Given the description of an element on the screen output the (x, y) to click on. 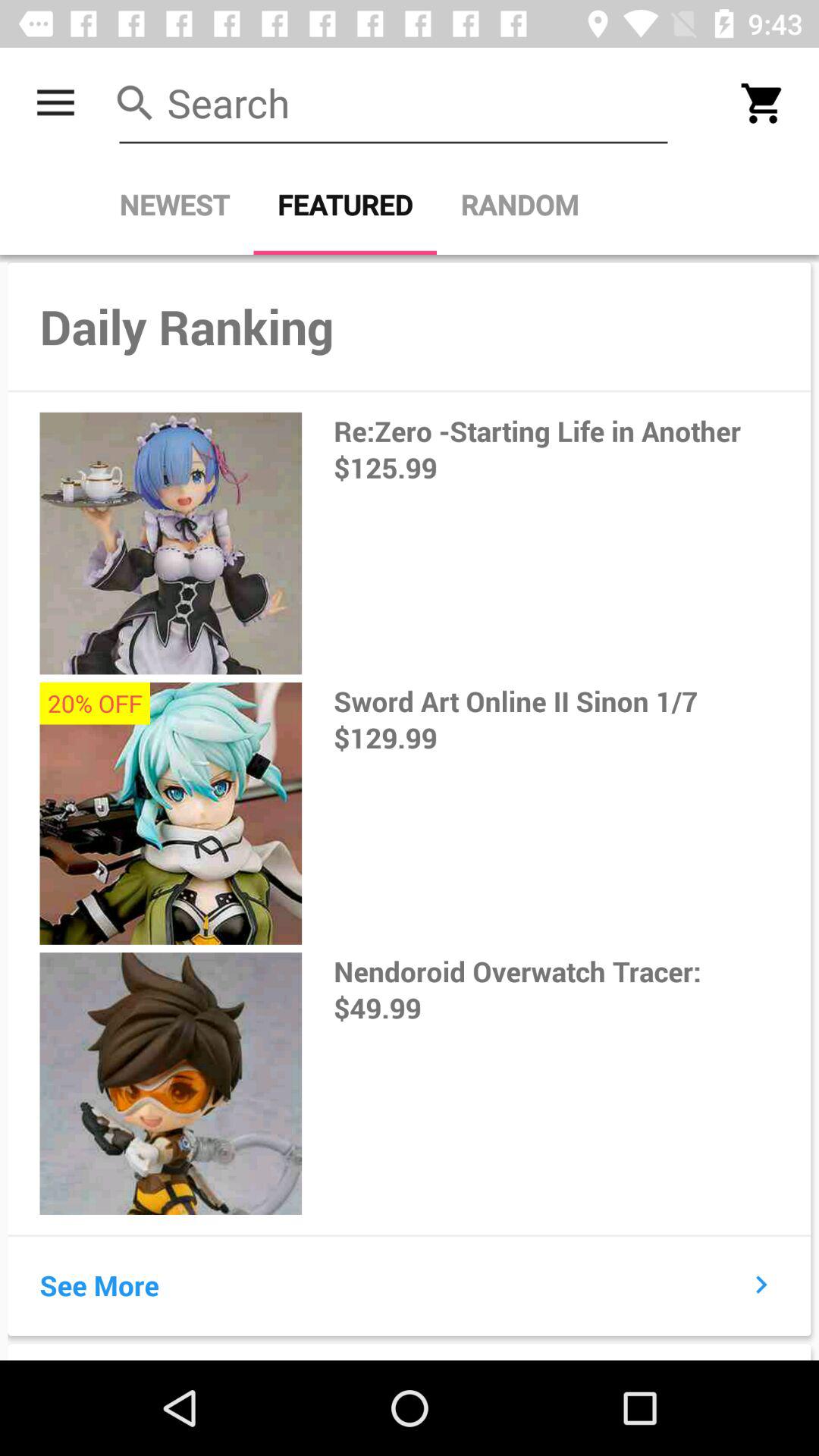
open icon next to the newest icon (344, 204)
